Given the description of an element on the screen output the (x, y) to click on. 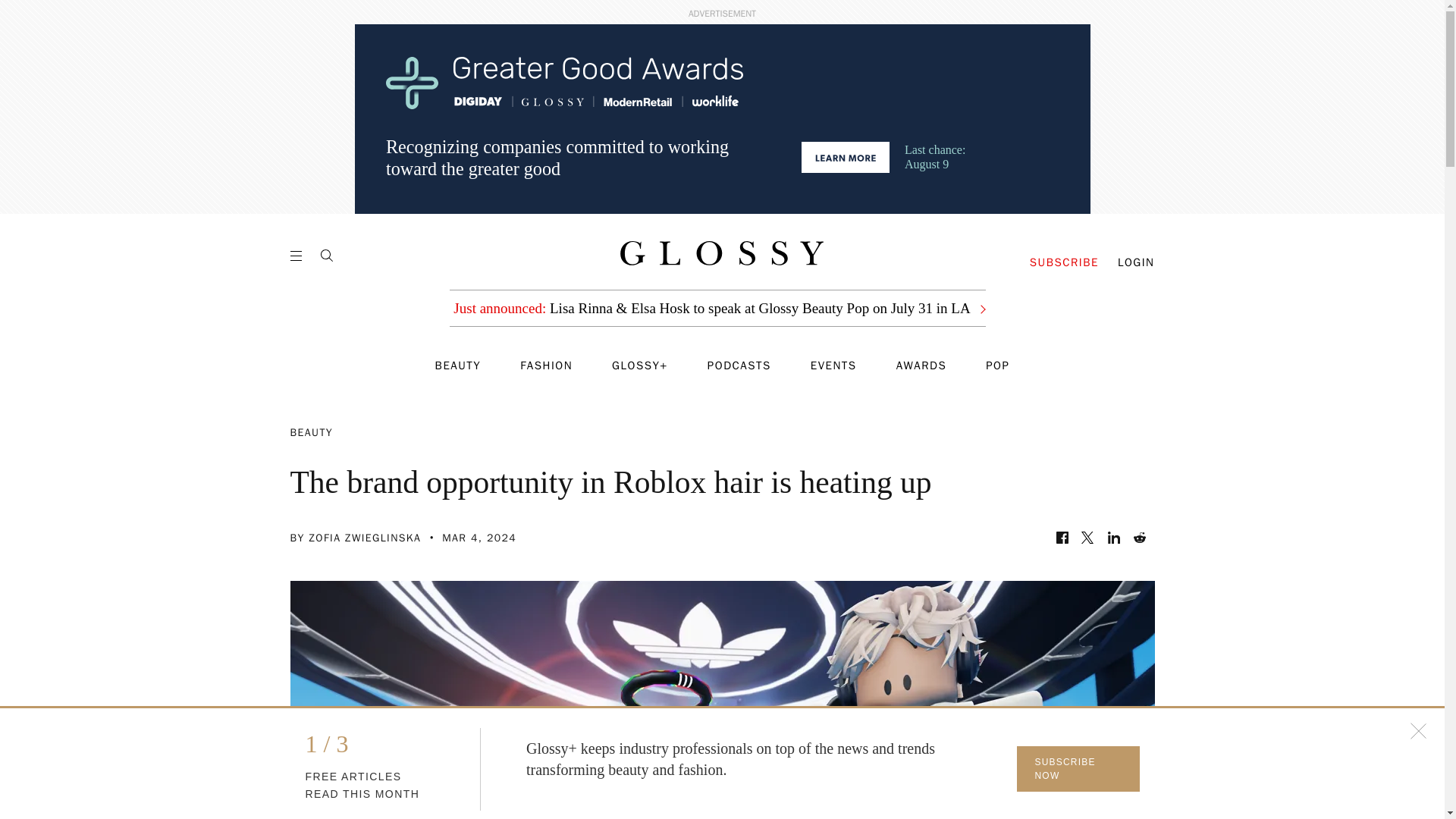
BEAUTY (458, 365)
FASHION (545, 365)
POP (997, 365)
LOGIN (1136, 262)
EVENTS (833, 365)
PODCASTS (739, 365)
SUBSCRIBE (1064, 262)
AWARDS (921, 365)
